Given the description of an element on the screen output the (x, y) to click on. 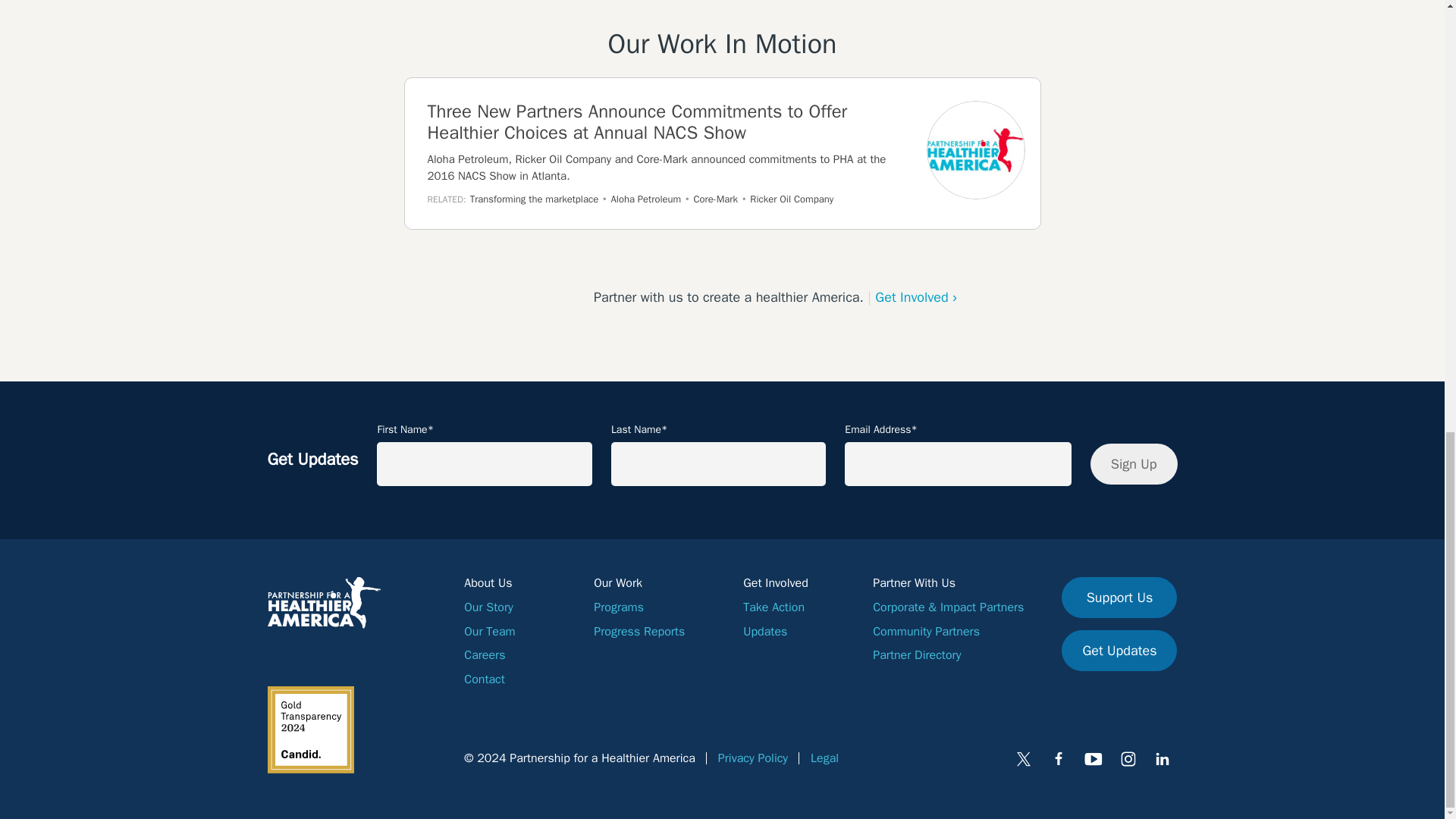
Ricker Oil Company (790, 198)
Aloha Petroleum (646, 198)
Transforming the marketplace (534, 198)
Core-Mark (716, 198)
